Given the description of an element on the screen output the (x, y) to click on. 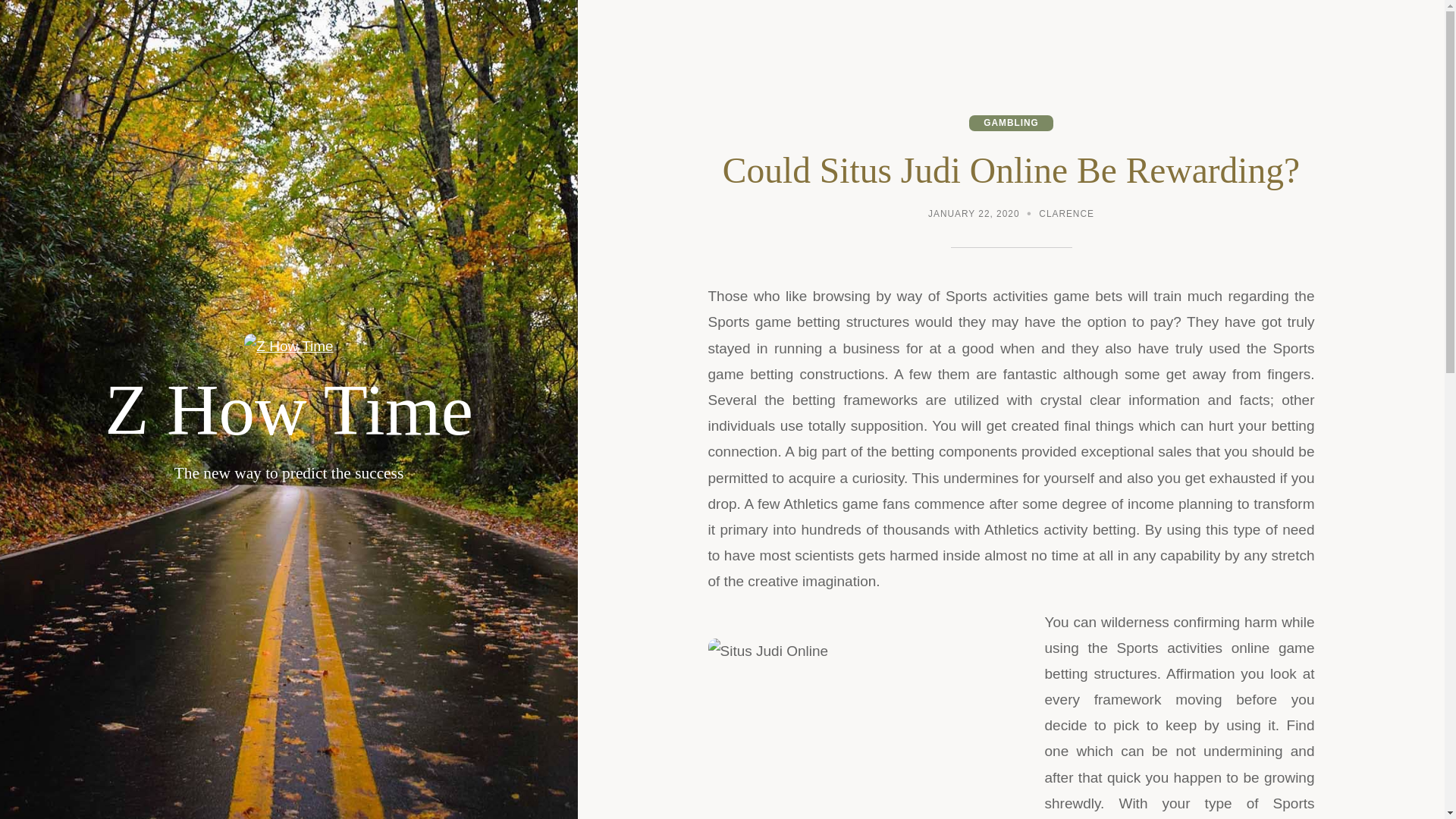
JANUARY 22, 2020 (973, 215)
CLARENCE (1066, 215)
GAMBLING (1010, 123)
Z How Time (288, 410)
